Given the description of an element on the screen output the (x, y) to click on. 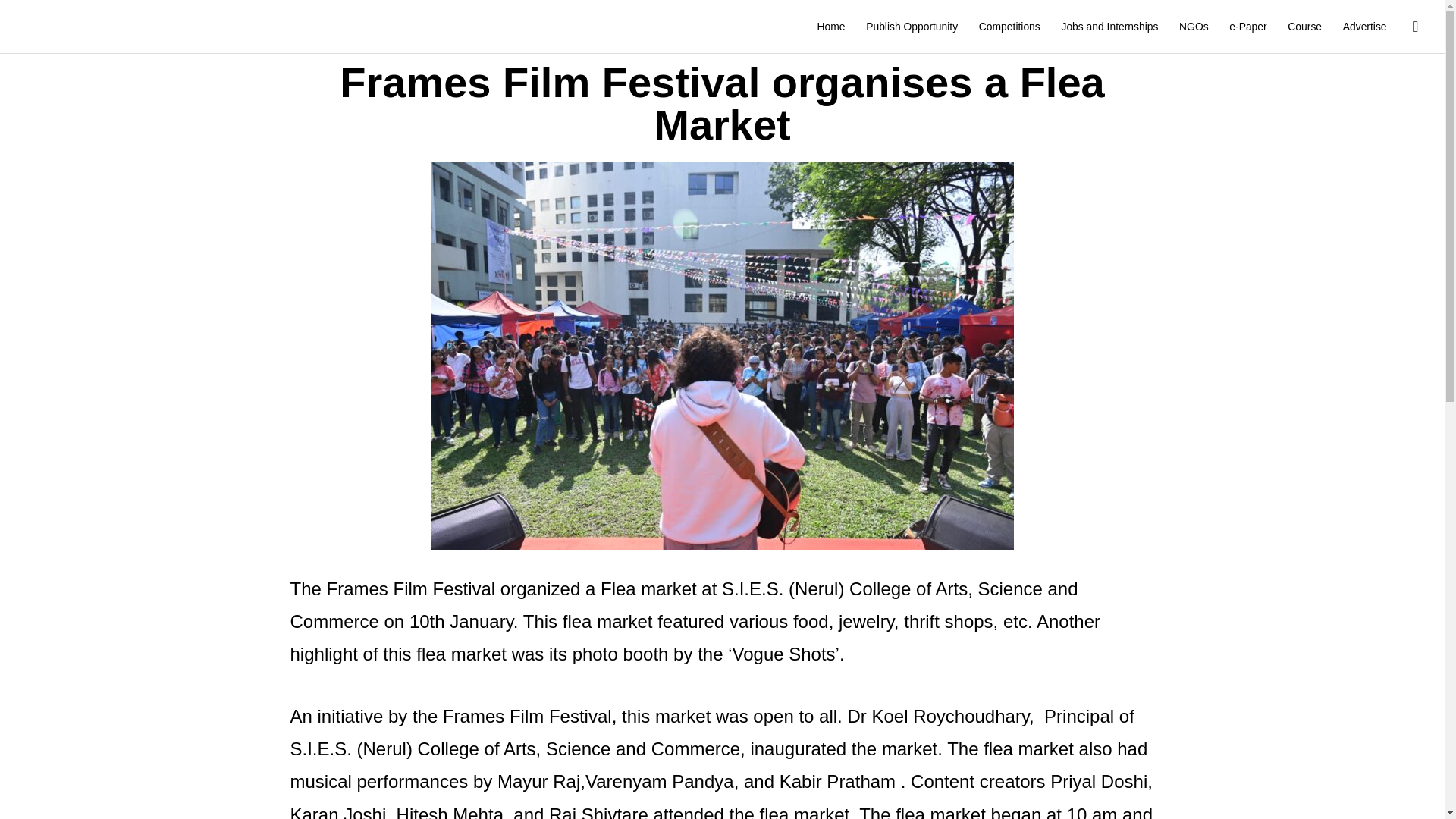
Advertise (1364, 26)
NGOs (1193, 26)
Publish Opportunity (912, 26)
Home (831, 26)
Jobs and Internships (1110, 26)
Course (1304, 26)
Competitions (1009, 26)
e-Paper (1247, 26)
